Given the description of an element on the screen output the (x, y) to click on. 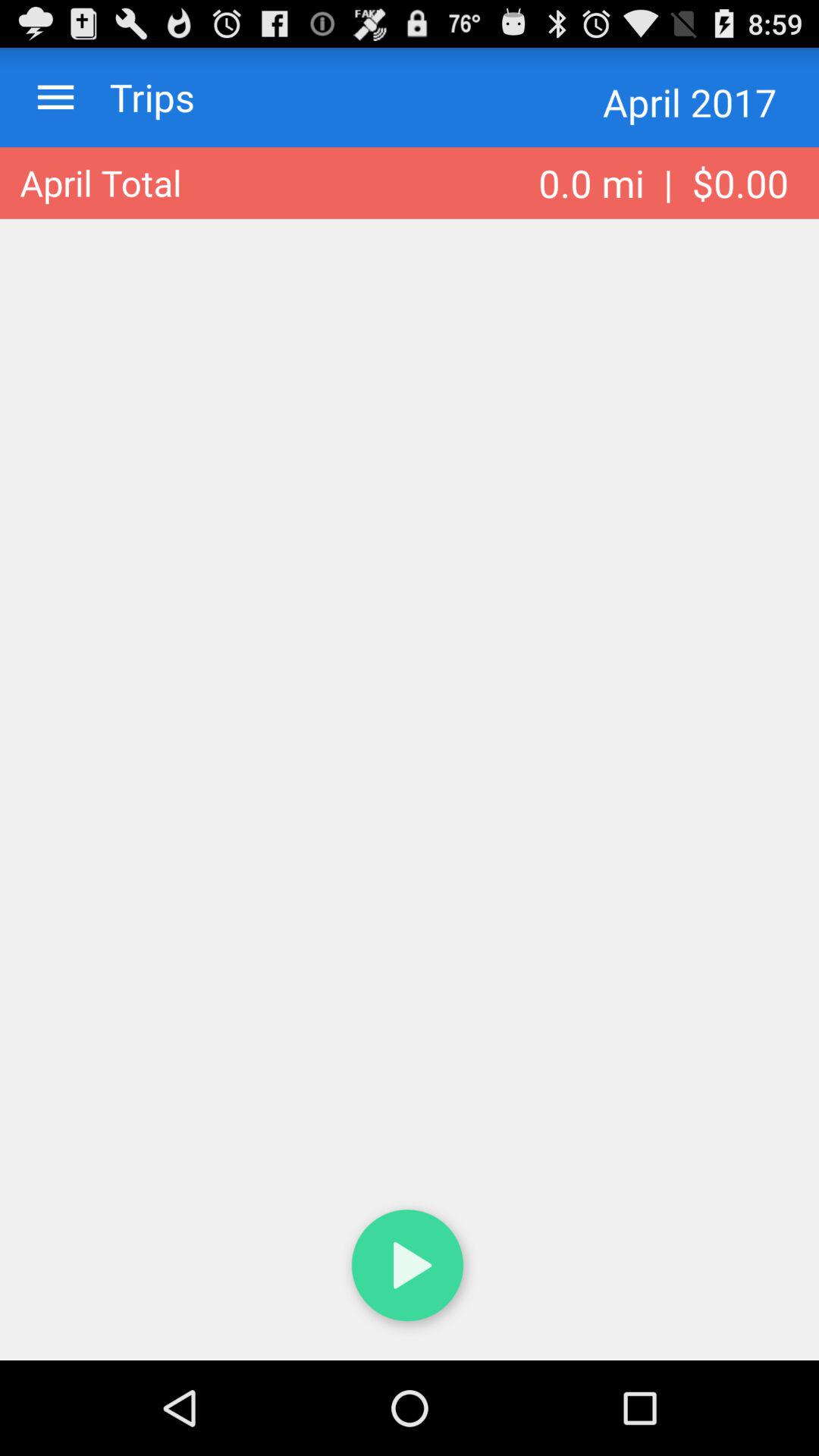
turn off the 0 0 mi item (663, 182)
